Given the description of an element on the screen output the (x, y) to click on. 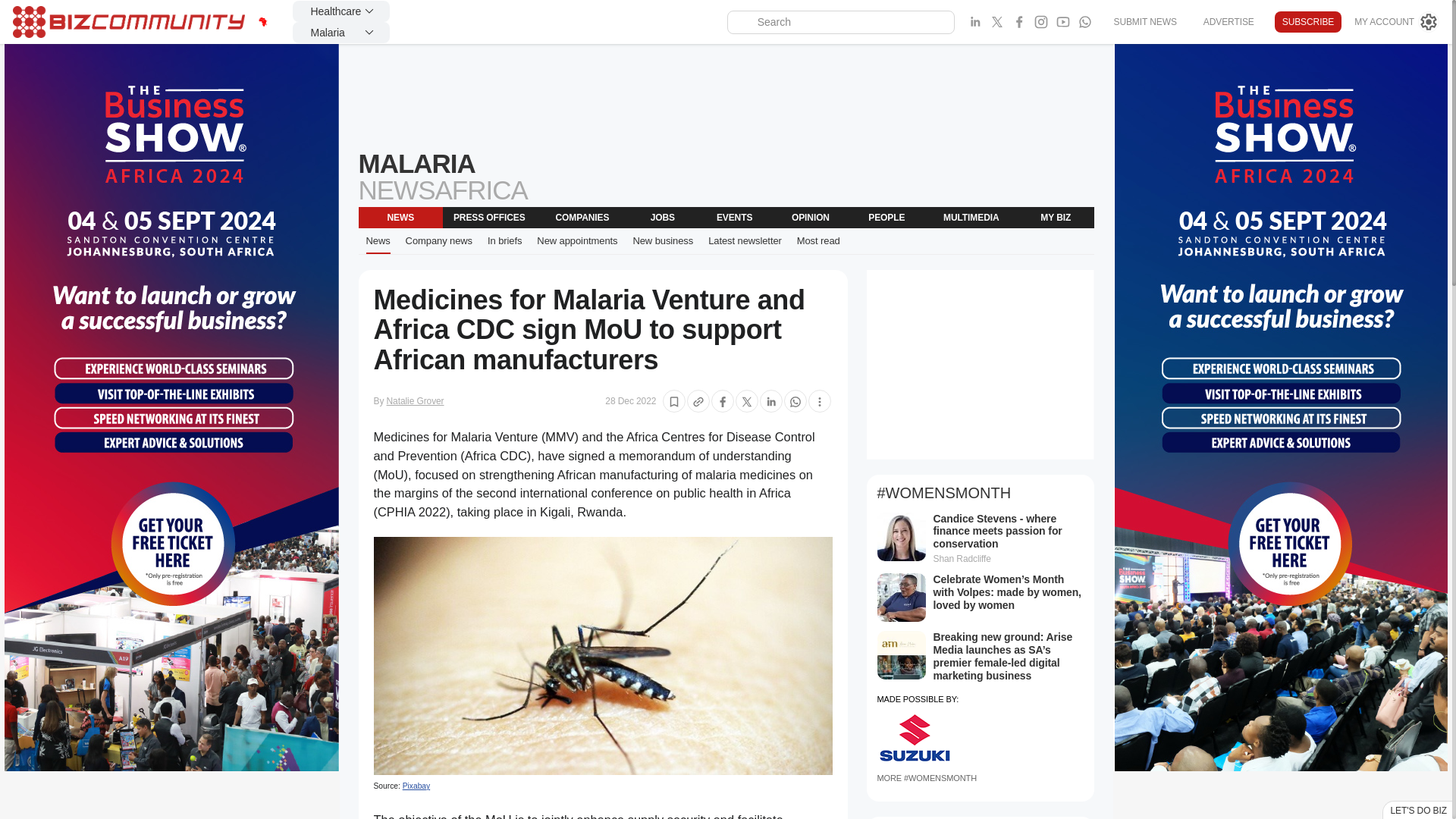
Bizcommunity facebook (1018, 22)
3rd party ad content (979, 364)
Bizcommunity facebook (1084, 22)
SUBSCRIBE (1307, 21)
Bizcommunity linked (975, 22)
Healthcare (341, 11)
MY ACCOUNT (1396, 21)
SUBMIT NEWS (1144, 21)
Malaria (341, 32)
3rd party ad content (725, 97)
